Given the description of an element on the screen output the (x, y) to click on. 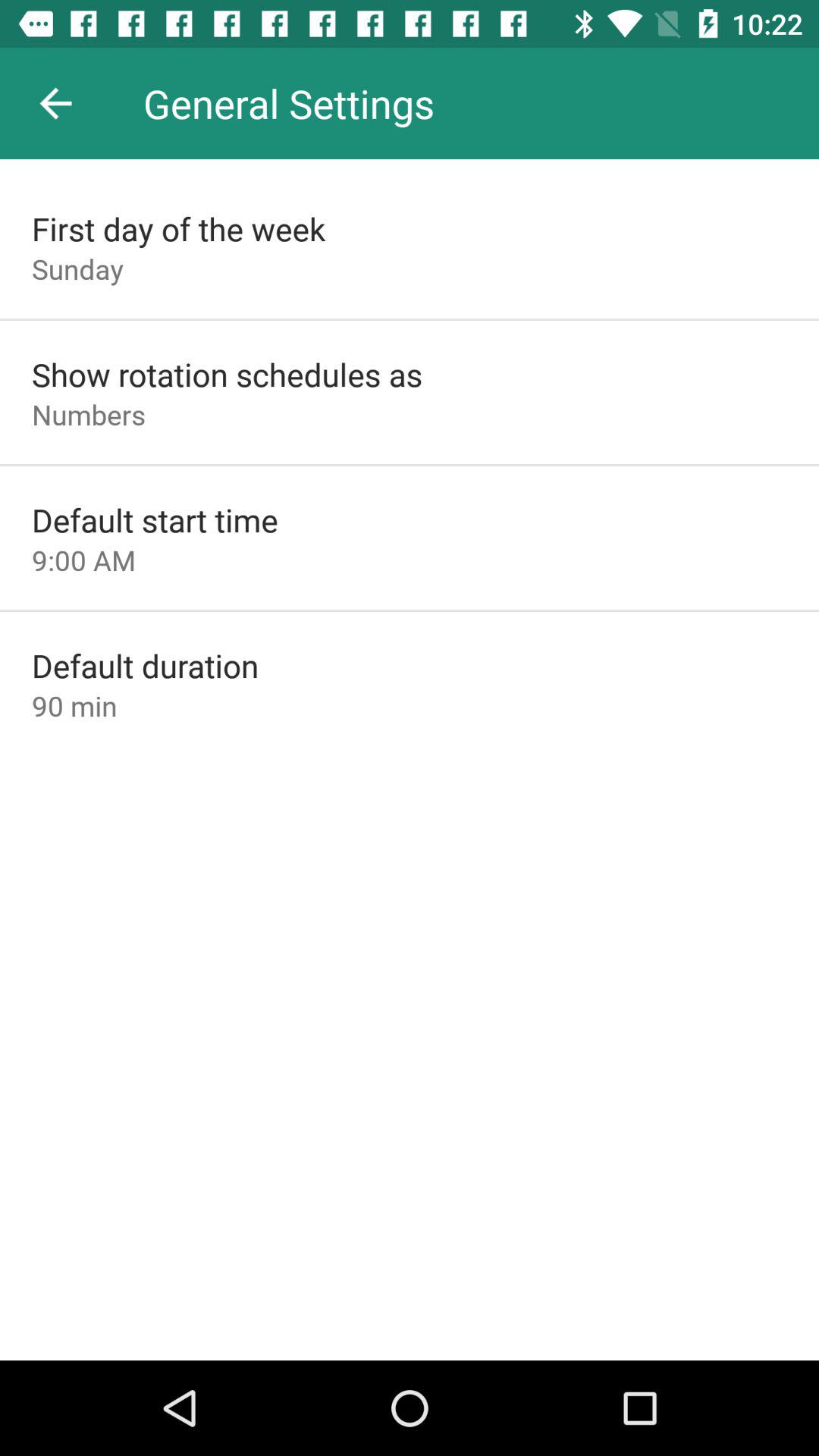
press the icon next to general settings app (55, 103)
